Given the description of an element on the screen output the (x, y) to click on. 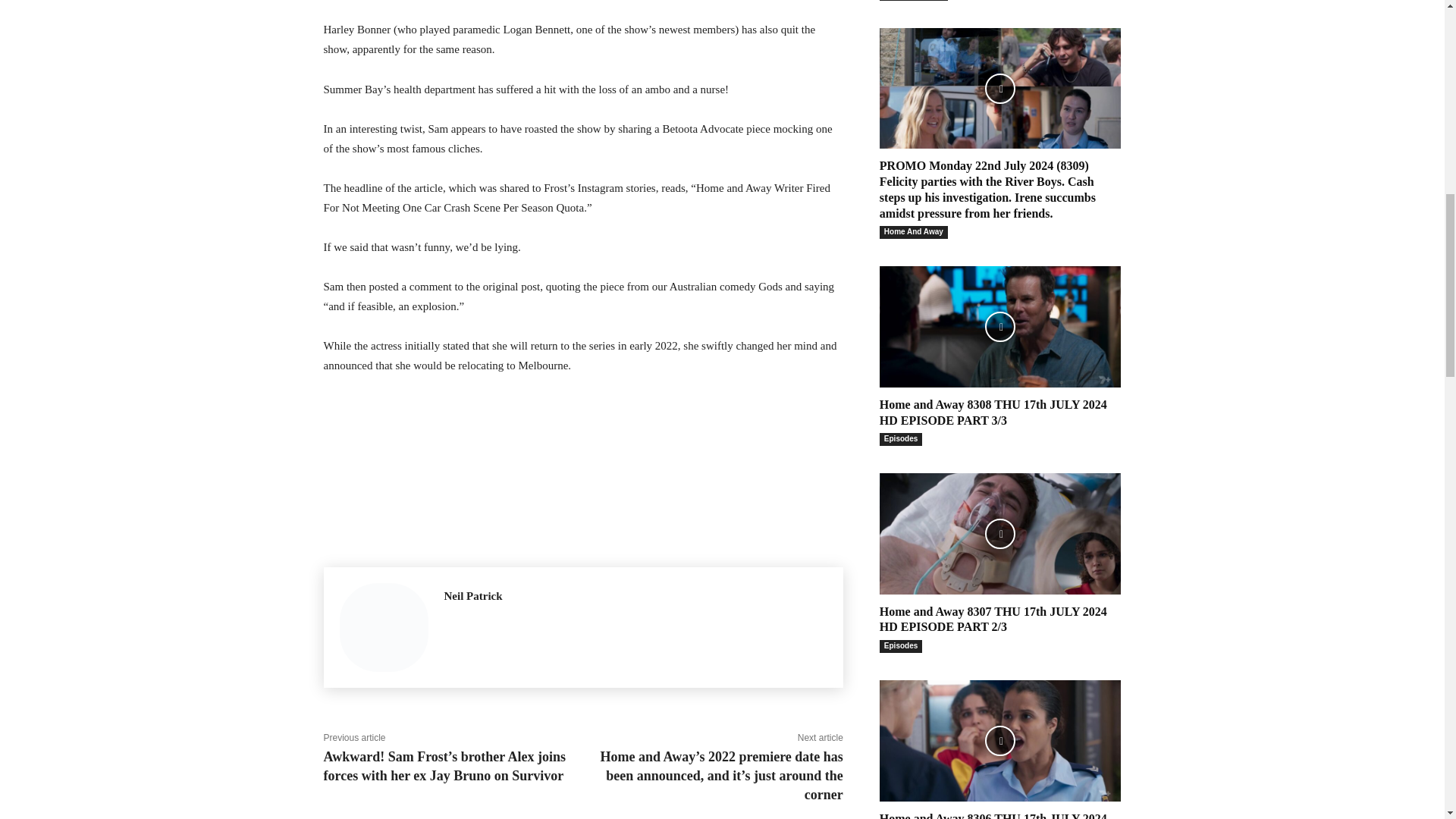
Share article (583, 452)
